Given the description of an element on the screen output the (x, y) to click on. 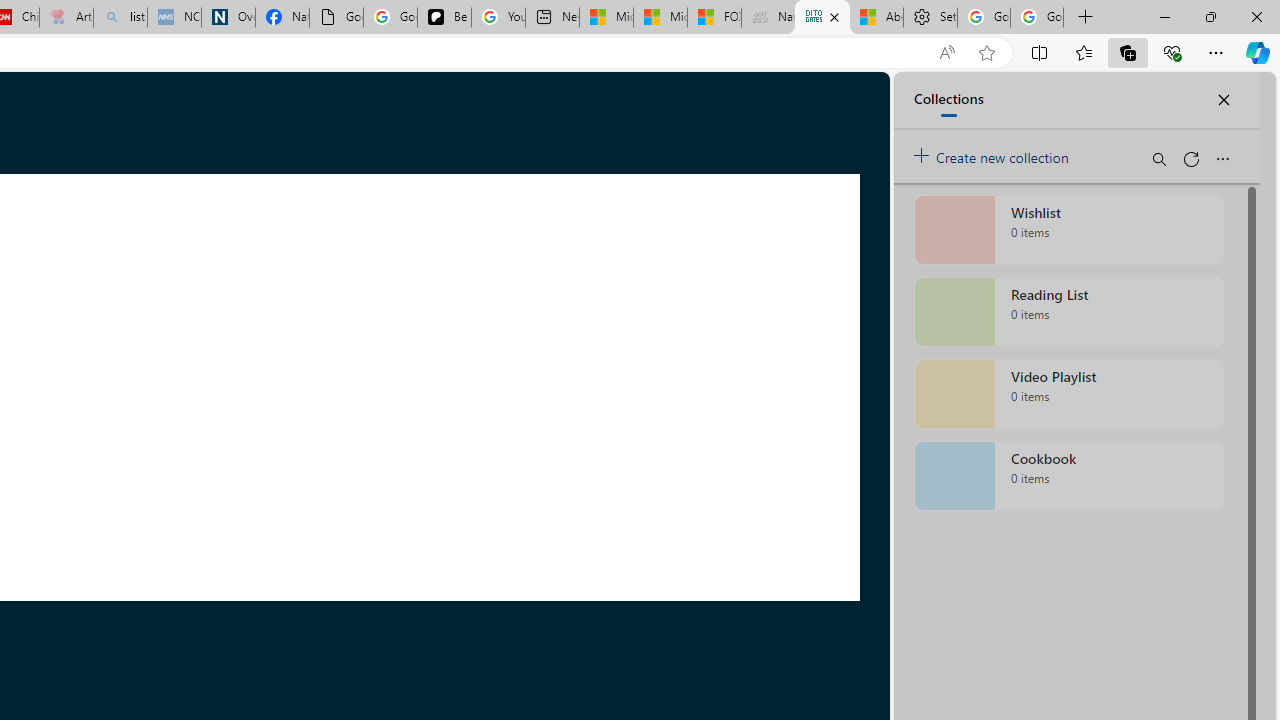
Navy Quest (768, 17)
FOX News - MSN (714, 17)
Arthritis: Ask Health Professionals - Sleeping (66, 17)
Google Analytics Opt-out Browser Add-on Download Page (336, 17)
